Given the description of an element on the screen output the (x, y) to click on. 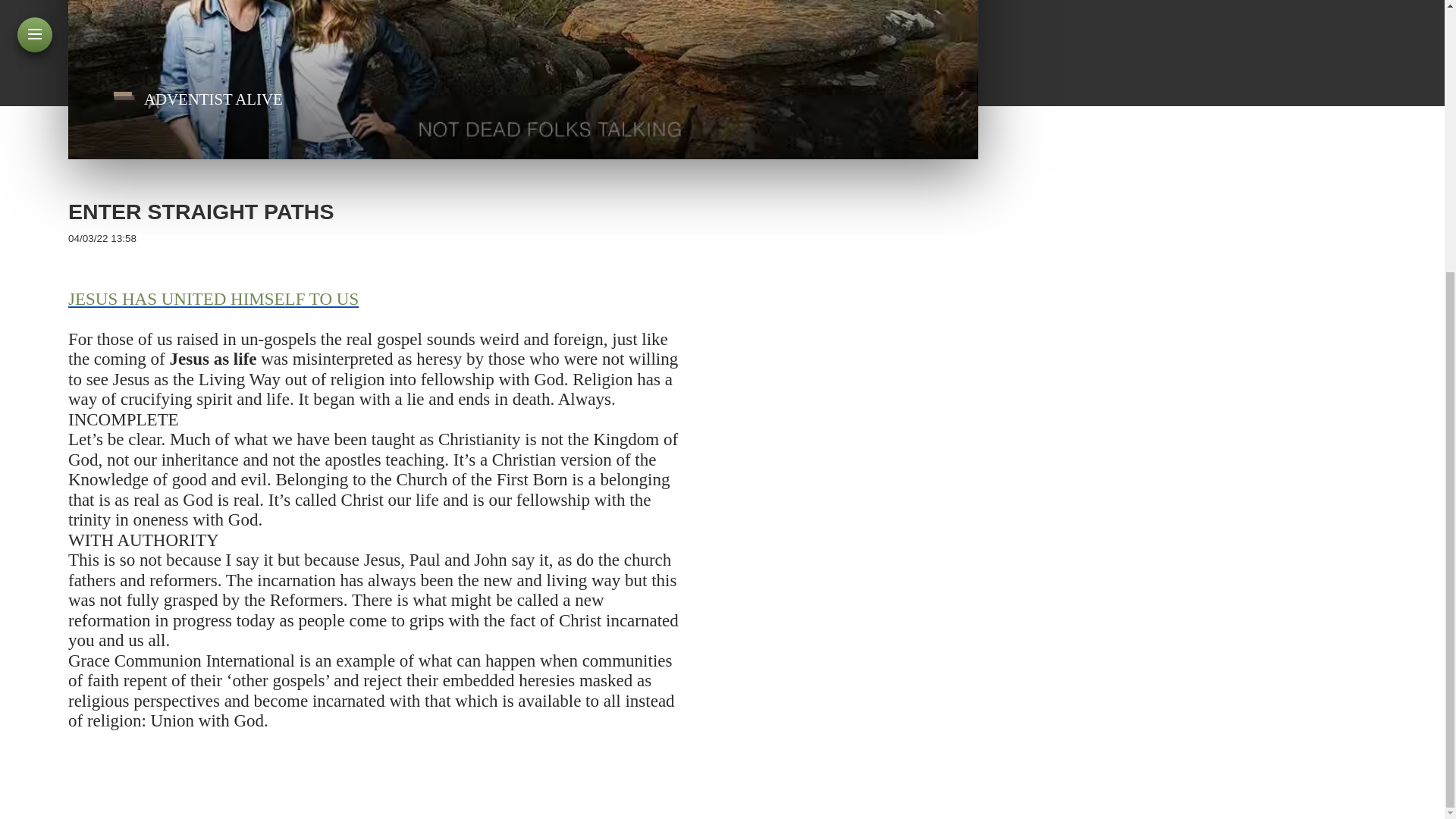
JESUS HAS UNITED HIMSELF TO US (213, 298)
